Given the description of an element on the screen output the (x, y) to click on. 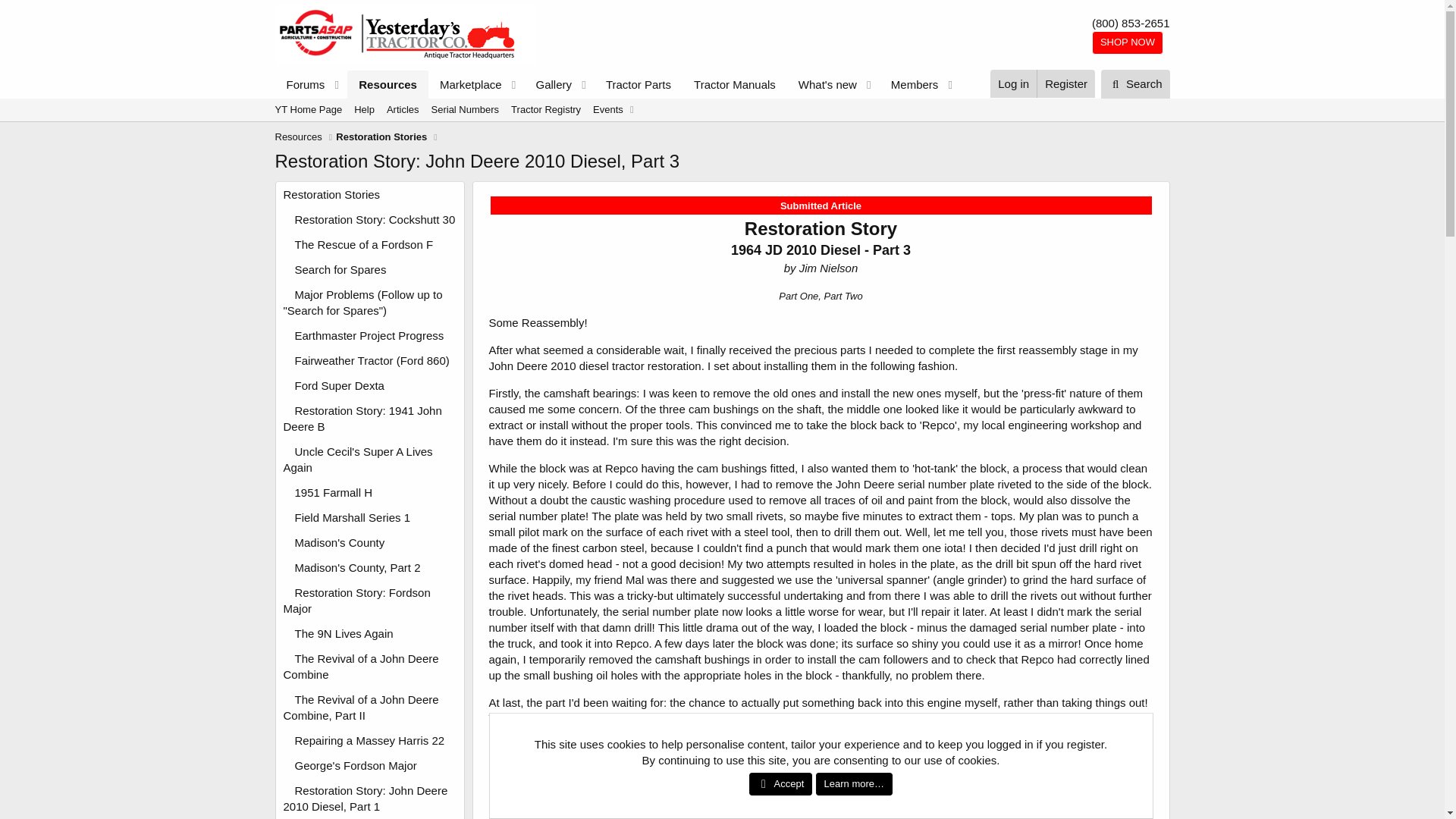
Marketplace (465, 84)
Gallery (548, 84)
Forums (300, 84)
Search (1135, 83)
Tractor Manuals (734, 84)
Resources (387, 84)
What's new (823, 84)
Tractor Parts (638, 84)
SHOP NOW (1127, 42)
